Given the description of an element on the screen output the (x, y) to click on. 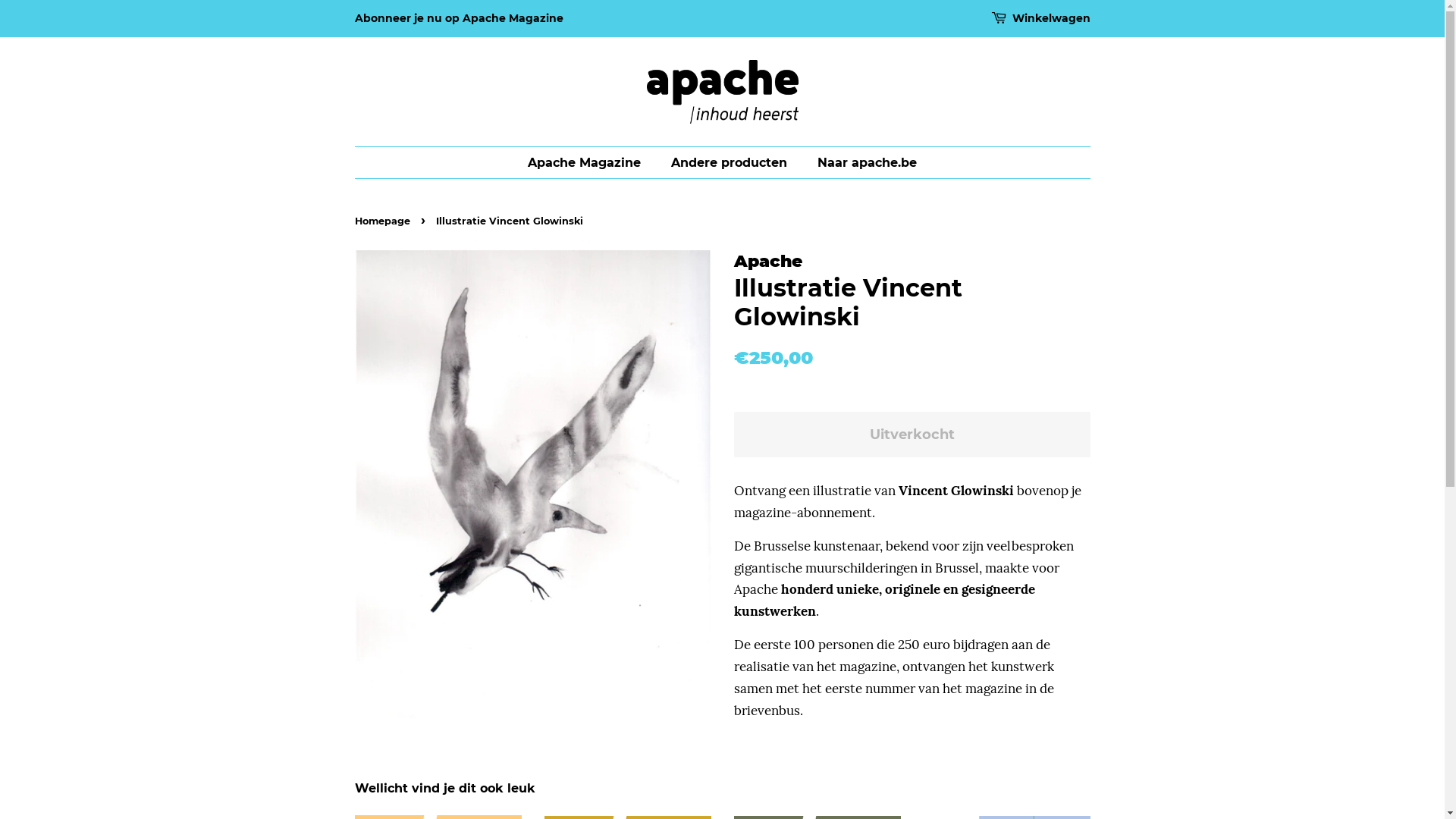
Naar apache.be Element type: text (861, 162)
Andere producten Element type: text (730, 162)
Abonneer je nu op Apache Magazine Element type: text (458, 18)
Winkelwagen Element type: text (1050, 18)
Uitverkocht Element type: text (912, 434)
Homepage Element type: text (384, 220)
Apache Magazine Element type: text (591, 162)
